Given the description of an element on the screen output the (x, y) to click on. 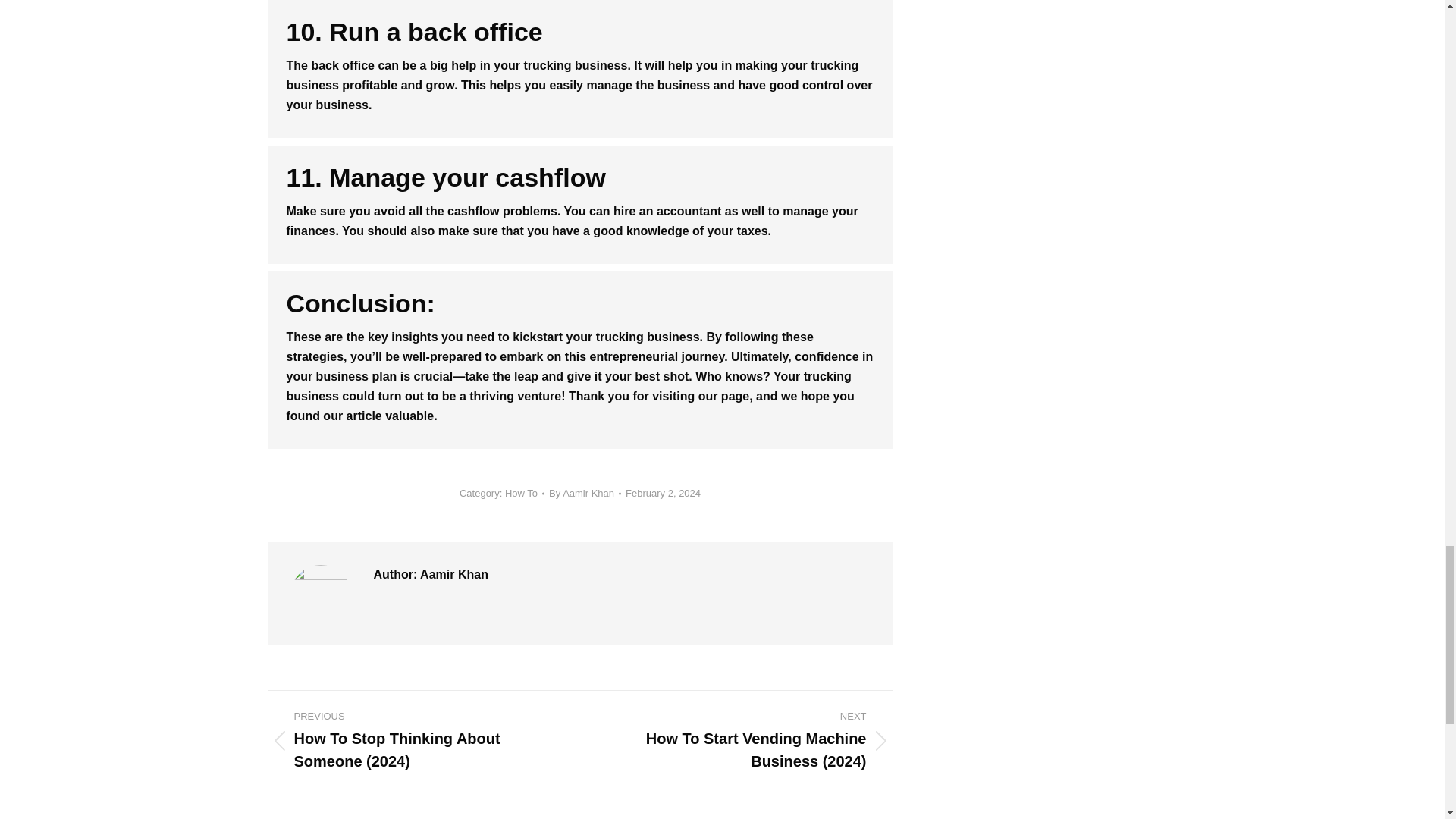
How To (521, 492)
View all posts by Aamir Khan (584, 493)
6:21 am (663, 493)
